Given the description of an element on the screen output the (x, y) to click on. 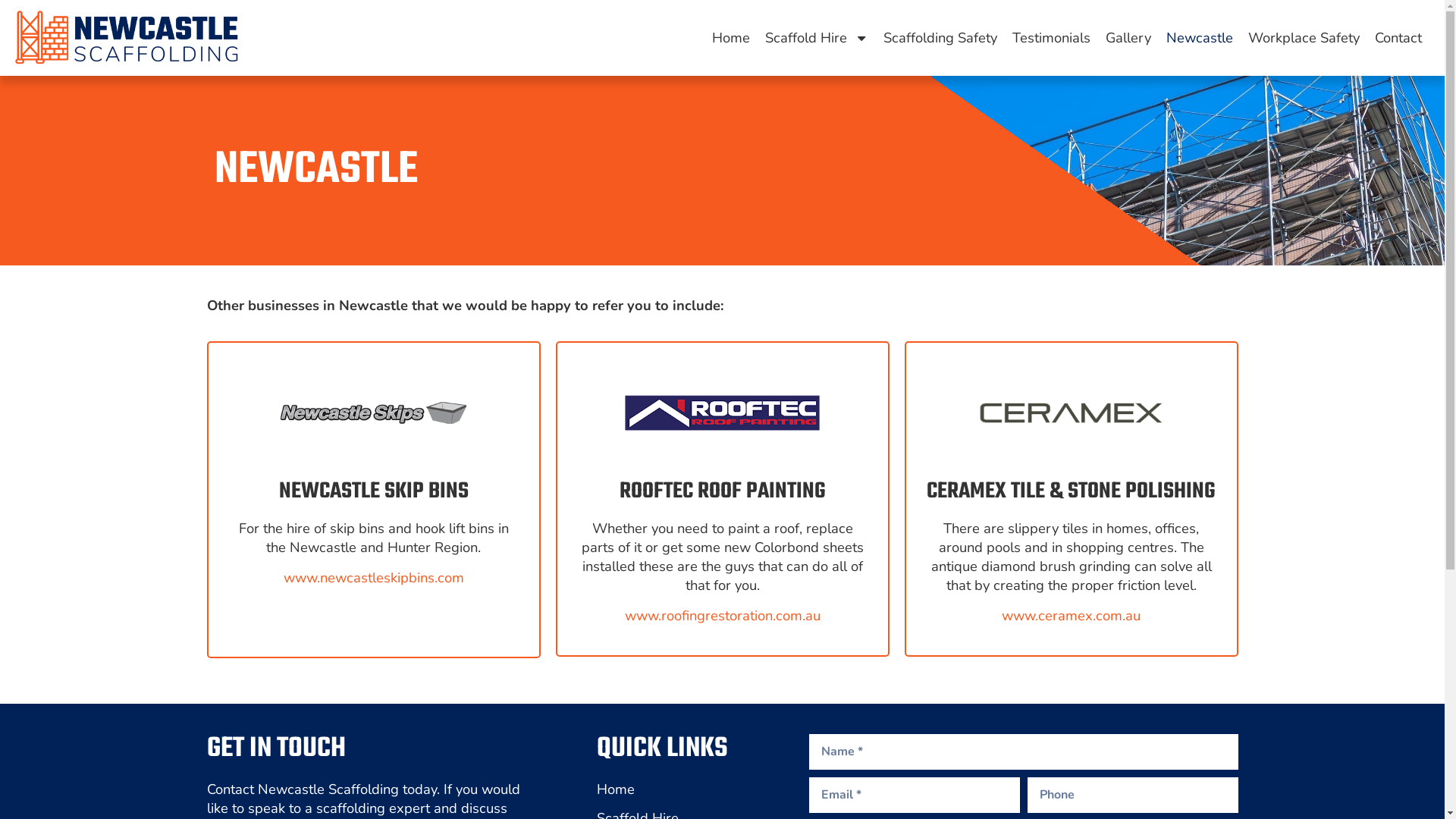
Scaffolding Safety Element type: text (939, 37)
Workplace Safety Element type: text (1303, 37)
Newcastle 2 Element type: hover (721, 412)
Testimonials Element type: text (1051, 37)
NEWCASTLE SKIP BINS Element type: text (373, 490)
www.roofingrestoration.com.au Element type: text (722, 614)
Newcastle Element type: text (1199, 37)
www.newcastleskipbins.com Element type: text (373, 576)
Home Element type: text (730, 37)
ROOFTEC ROOF PAINTING Element type: text (721, 490)
Newcastle 1 Element type: hover (372, 412)
Contact Element type: text (1398, 37)
CERAMEX TILE & STONE POLISHING Element type: text (1070, 490)
Home Element type: text (679, 788)
Newcastle 3 Element type: hover (1070, 412)
Gallery Element type: text (1128, 37)
Scaffold Hire Element type: text (816, 37)
www.ceramex.com.au Element type: text (1070, 614)
